Given the description of an element on the screen output the (x, y) to click on. 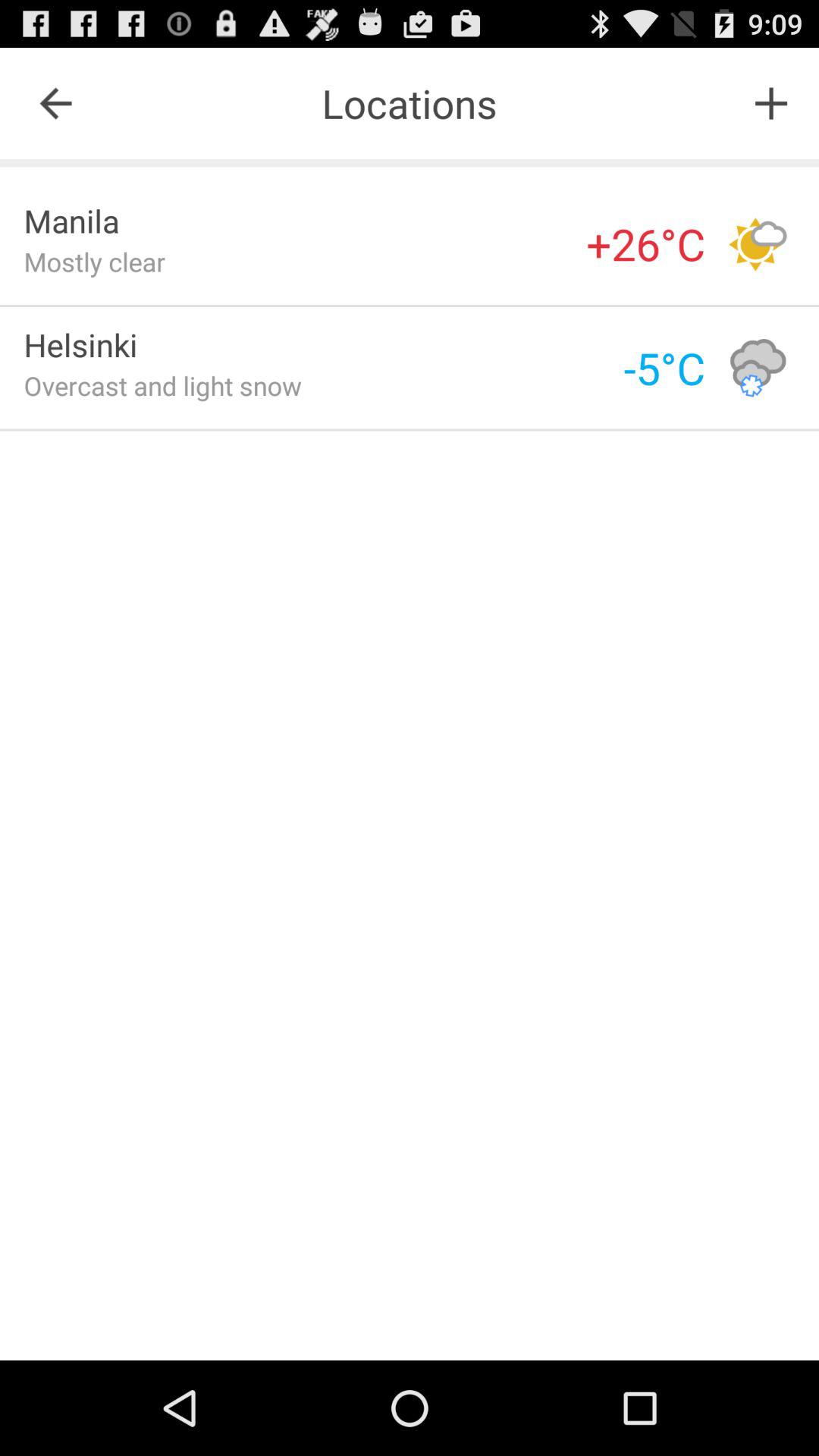
select the item next to locations (55, 103)
